Given the description of an element on the screen output the (x, y) to click on. 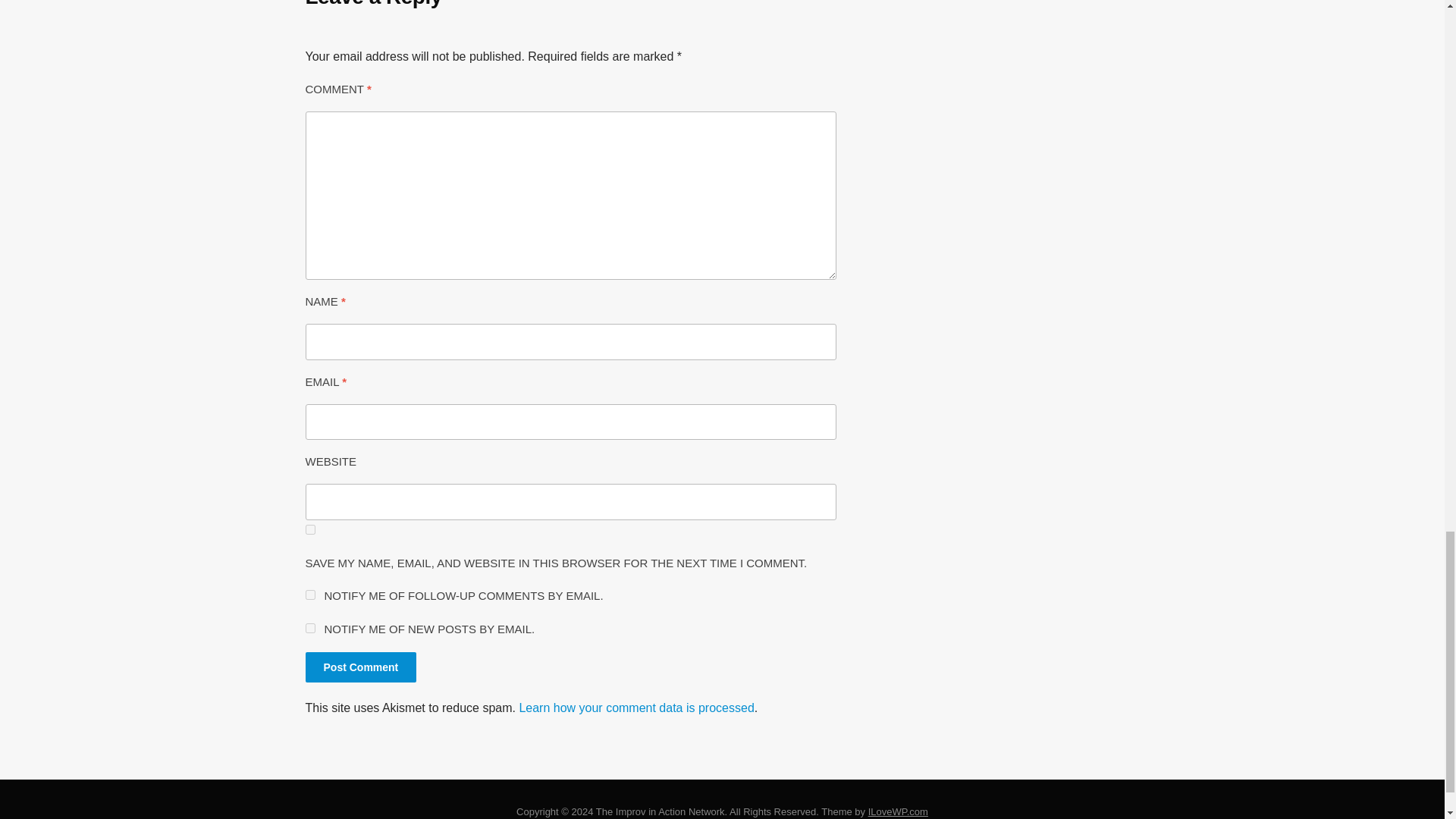
yes (309, 529)
subscribe (309, 594)
subscribe (309, 628)
Podcast WordPress Themes (897, 811)
Post Comment (360, 666)
